Given the description of an element on the screen output the (x, y) to click on. 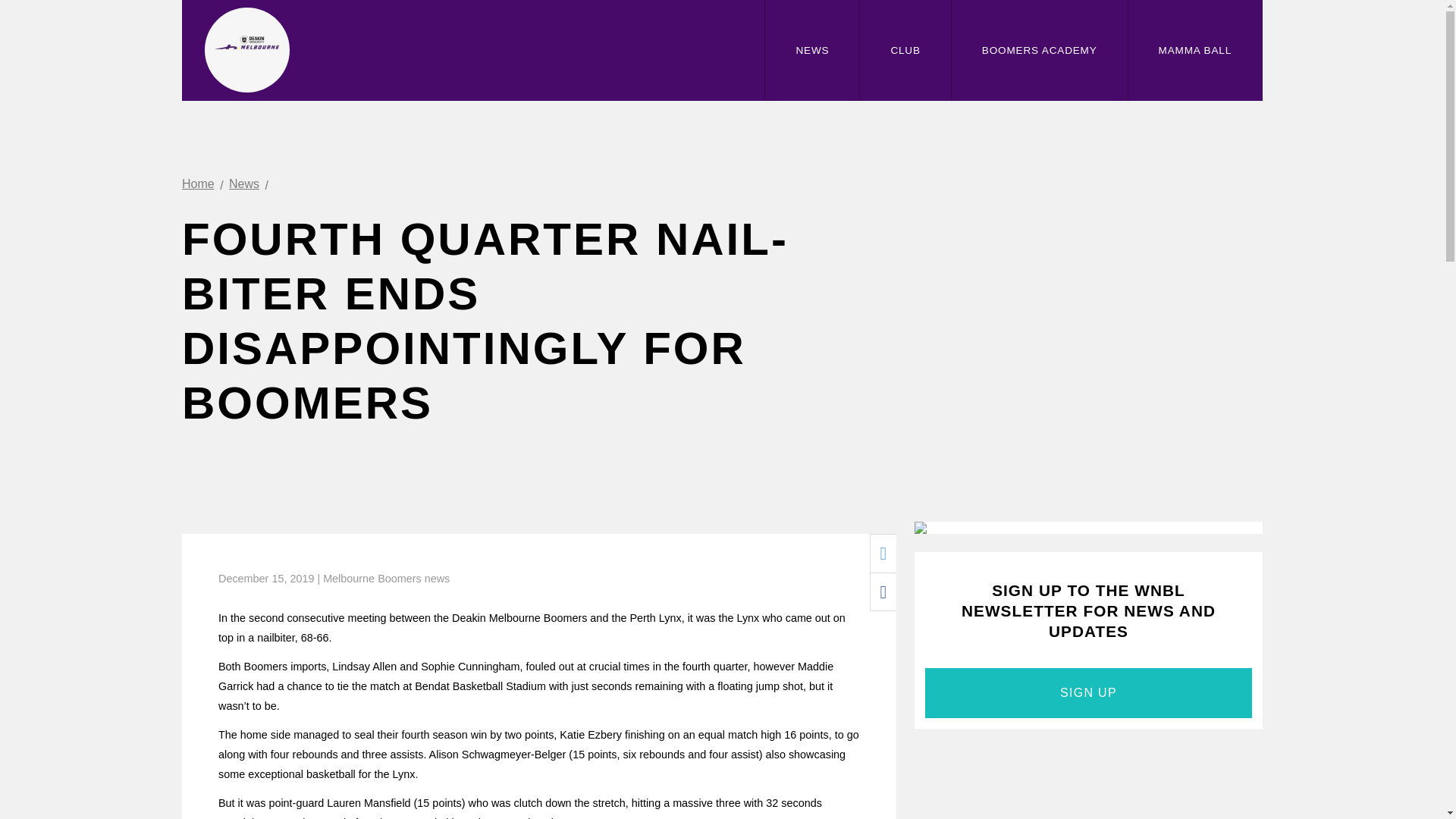
BOOMERS ACADEMY (1039, 50)
Home (198, 183)
News (243, 183)
SIGN UP (1088, 693)
MAMMA BALL (1195, 50)
NEWS (812, 50)
CLUB (905, 50)
